Given the description of an element on the screen output the (x, y) to click on. 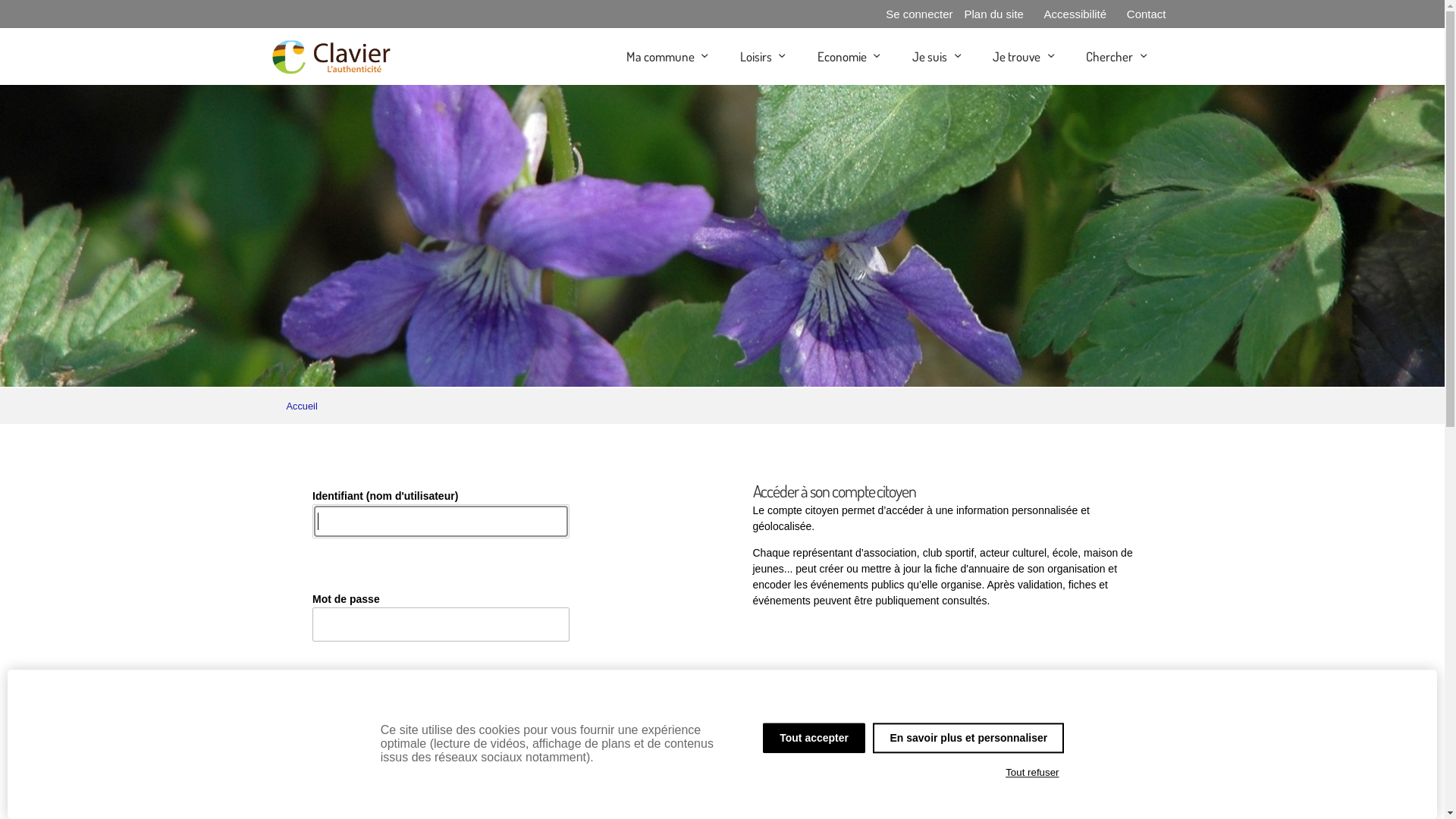
Tout accepter Element type: text (813, 737)
Tout refuser Element type: text (1032, 772)
Contact Element type: text (1146, 13)
Ma commune Element type: text (660, 56)
Se connecter Element type: text (918, 13)
Commune de Clavier Element type: hover (330, 68)
Economie Element type: text (841, 56)
Je suis Element type: text (929, 56)
Aller au contenu. Element type: text (1200, 56)
Je trouve Element type: text (1016, 56)
Commune de Clavier Element type: hover (330, 56)
En savoir plus et personnaliser Element type: text (967, 737)
Chercher Element type: text (1108, 56)
Plan du site Element type: text (993, 13)
Se connecter Element type: text (379, 708)
Loisirs Element type: text (755, 56)
Accueil Element type: text (301, 405)
